Given the description of an element on the screen output the (x, y) to click on. 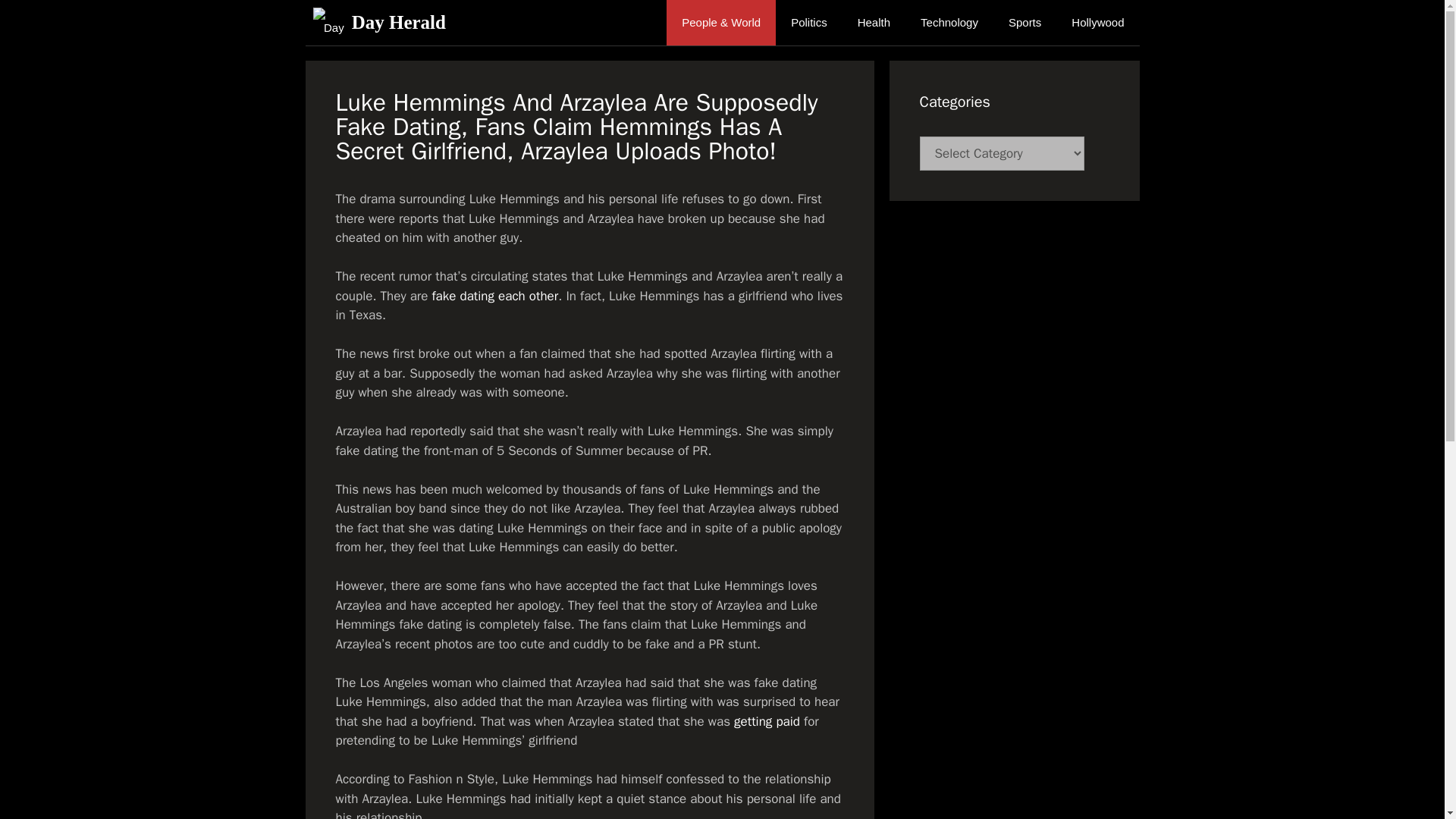
Health (874, 22)
Technology (948, 22)
Hollywood (1097, 22)
Day Herald (398, 22)
Politics (809, 22)
getting paid (766, 720)
fake dating each other (495, 295)
Sports (1024, 22)
